Given the description of an element on the screen output the (x, y) to click on. 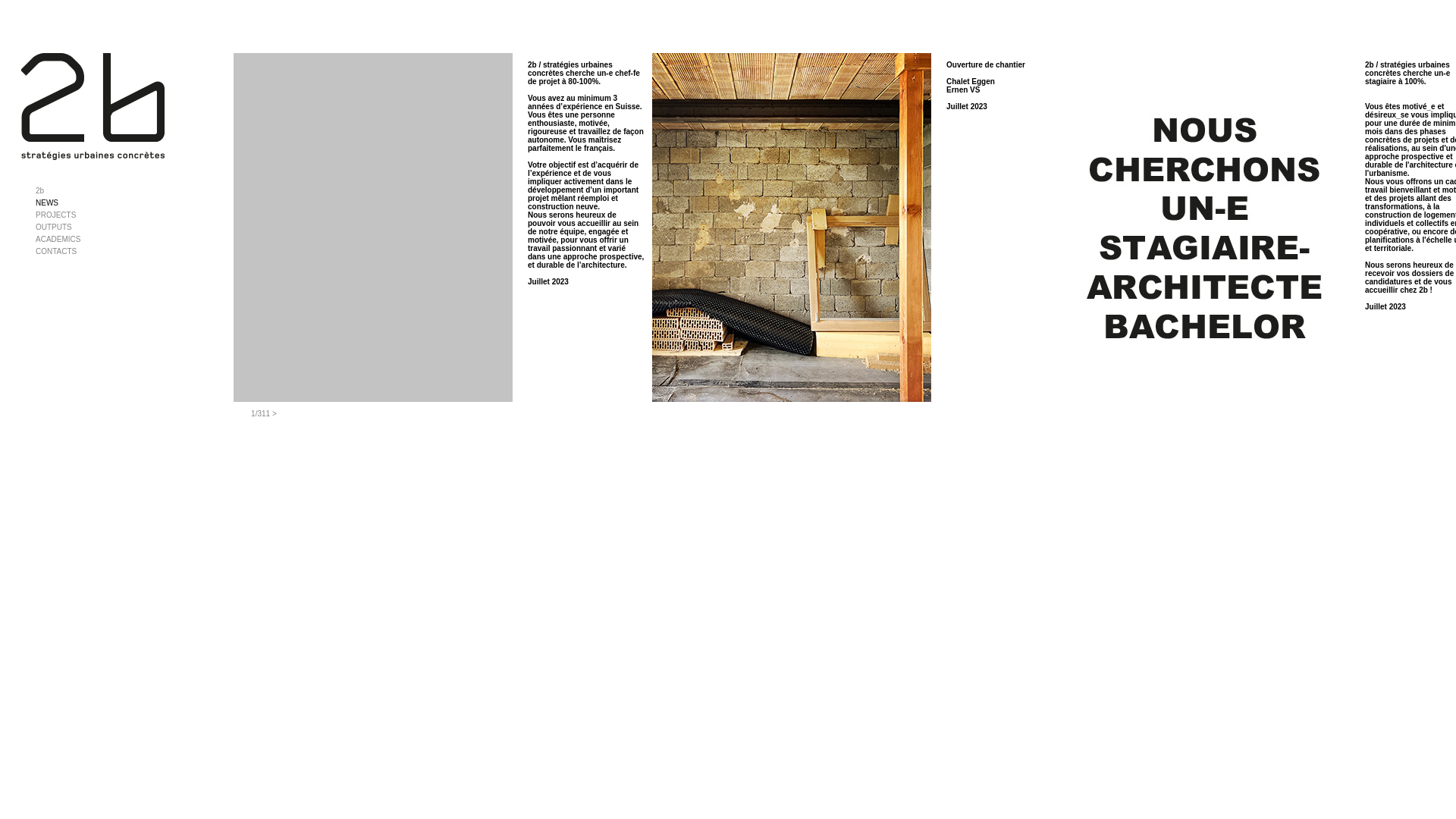
> Element type: text (274, 413)
ACADEMICS Element type: text (57, 239)
PROJECTS Element type: text (55, 214)
2b Element type: text (39, 190)
CONTACTS Element type: text (55, 251)
OUTPUTS Element type: text (53, 226)
